Given the description of an element on the screen output the (x, y) to click on. 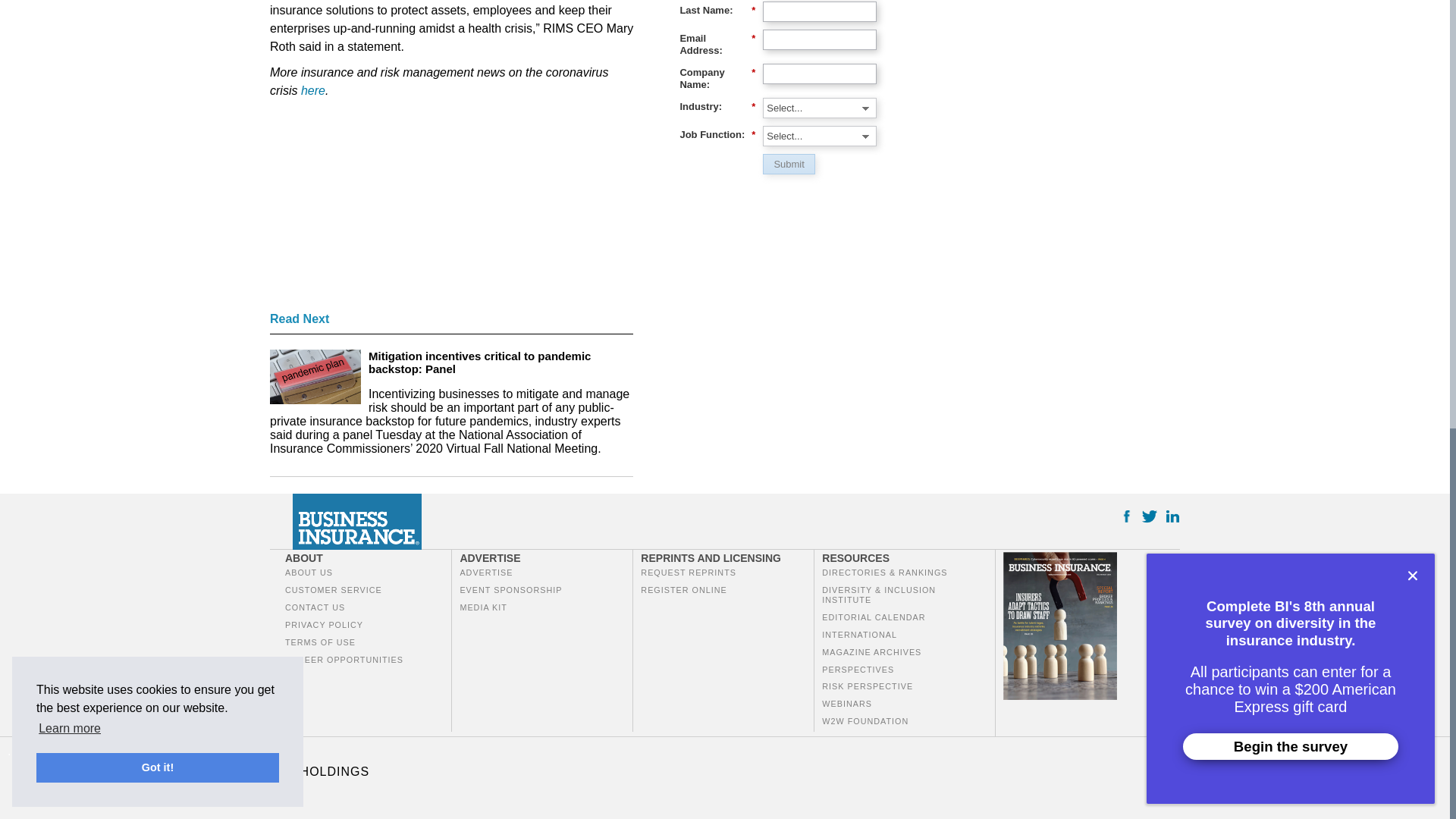
3rd party ad content (383, 209)
3rd party ad content (1057, 136)
